Given the description of an element on the screen output the (x, y) to click on. 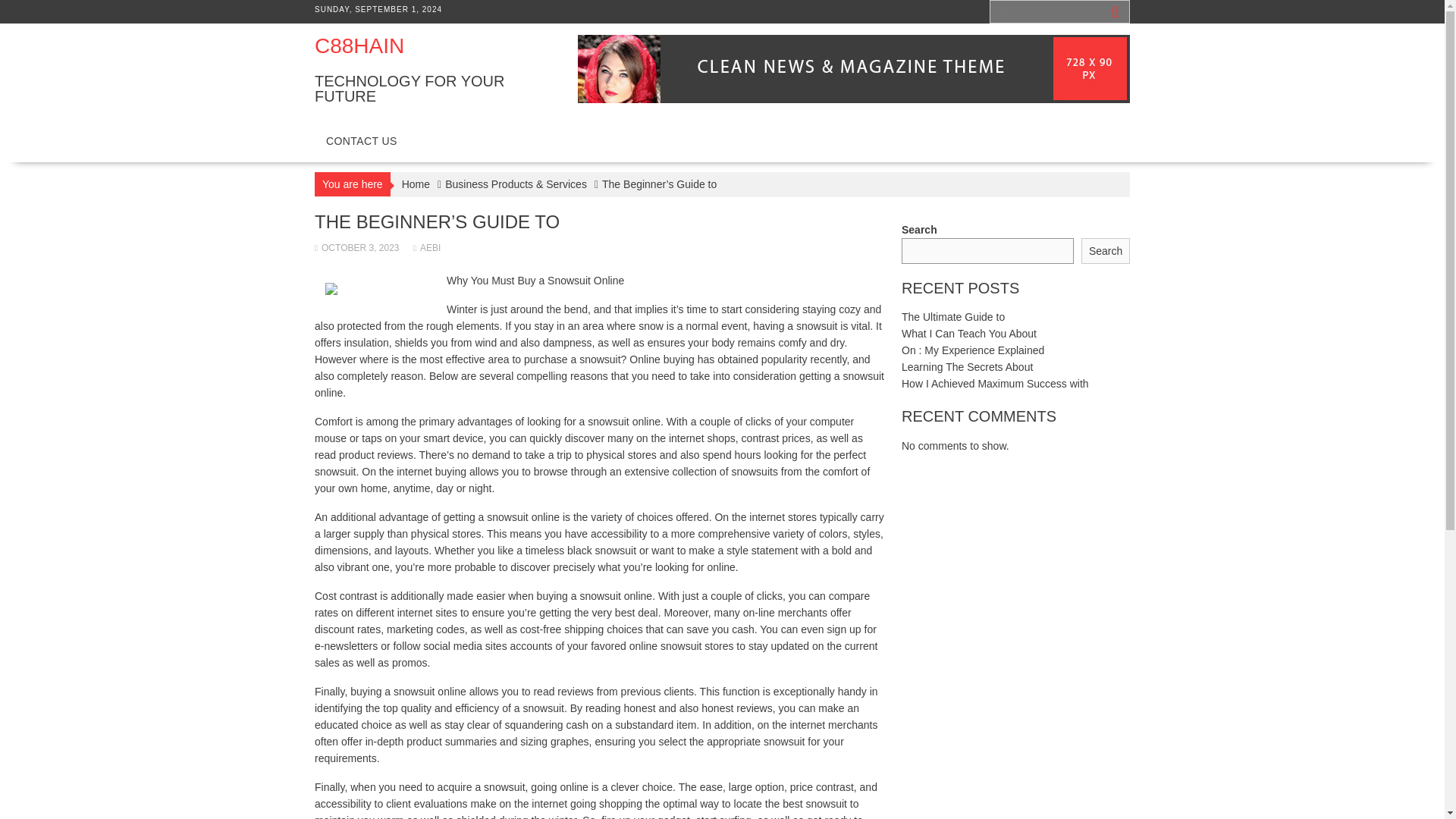
The Ultimate Guide to (952, 316)
C88HAIN (359, 45)
How I Achieved Maximum Success with (995, 383)
OCTOBER 3, 2023 (356, 247)
AEBI (427, 247)
Home (415, 184)
Learning The Secrets About (966, 367)
What I Can Teach You About (968, 333)
CONTACT US (361, 140)
Search (1105, 251)
